Given the description of an element on the screen output the (x, y) to click on. 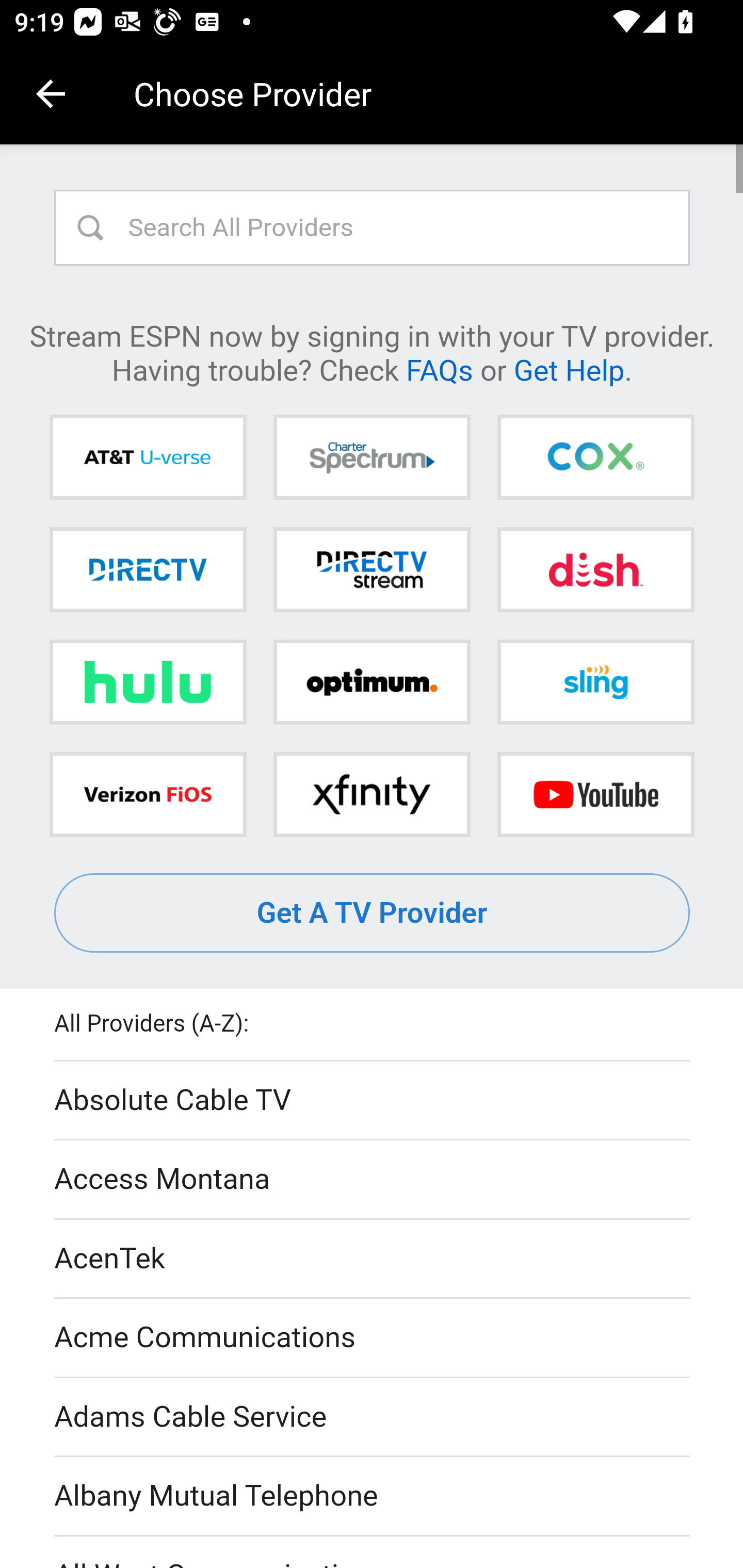
Navigate up (50, 93)
FAQs (438, 369)
Get Help (569, 369)
AT&T U-verse (147, 457)
Charter Spectrum (371, 457)
Cox (595, 457)
DIRECTV (147, 568)
DIRECTV STREAM (371, 568)
DISH (595, 568)
Hulu (147, 681)
Optimum (371, 681)
Sling TV (595, 681)
Verizon FiOS (147, 793)
Xfinity (371, 793)
YouTube TV (595, 793)
Get A TV Provider (372, 912)
Absolute Cable TV (372, 1100)
Access Montana (372, 1178)
AcenTek (372, 1258)
Acme Communications (372, 1338)
Adams Cable Service (372, 1417)
Albany Mutual Telephone (372, 1497)
